Given the description of an element on the screen output the (x, y) to click on. 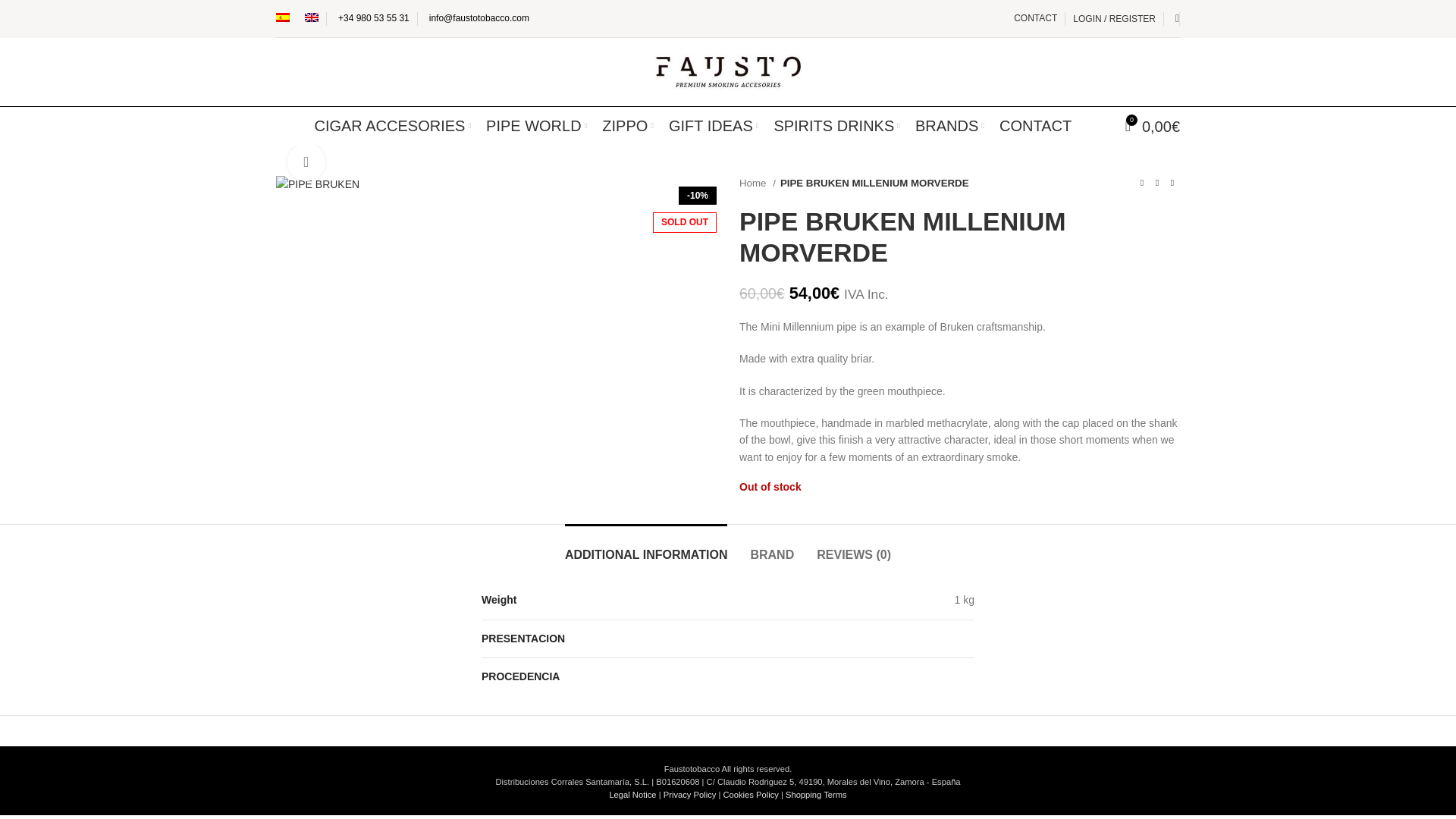
Privacy Policy (689, 794)
Legal Notice (632, 794)
PIPE BRUKEN (317, 184)
Shopping Terms (816, 794)
Cookies Policy (749, 794)
My account (1114, 18)
CONTACT (1035, 18)
Shopping cart (1153, 125)
Log in (1030, 252)
CIGAR ACCESORIES (392, 125)
